Given the description of an element on the screen output the (x, y) to click on. 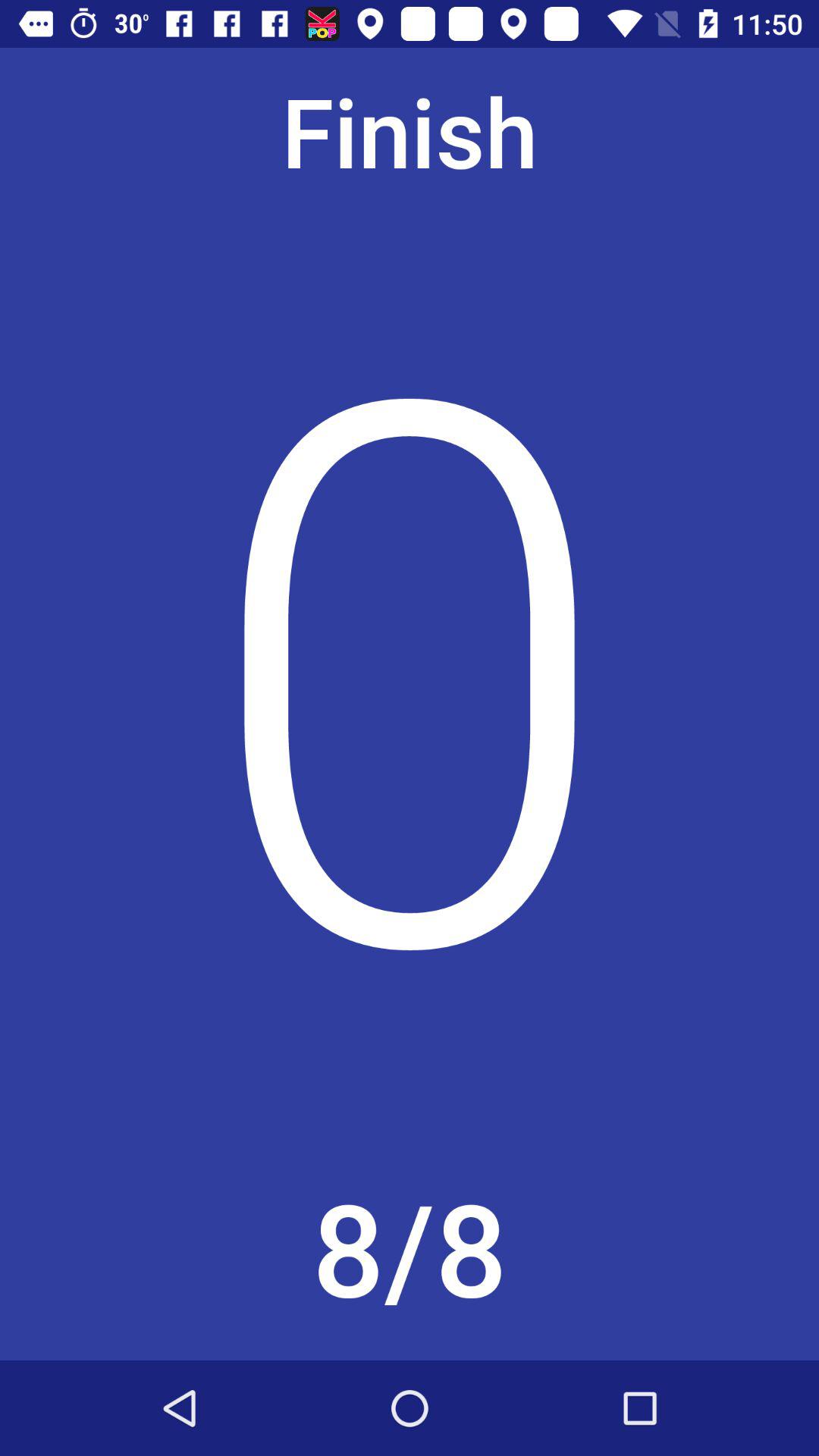
scroll to the 8/8 (409, 1253)
